Given the description of an element on the screen output the (x, y) to click on. 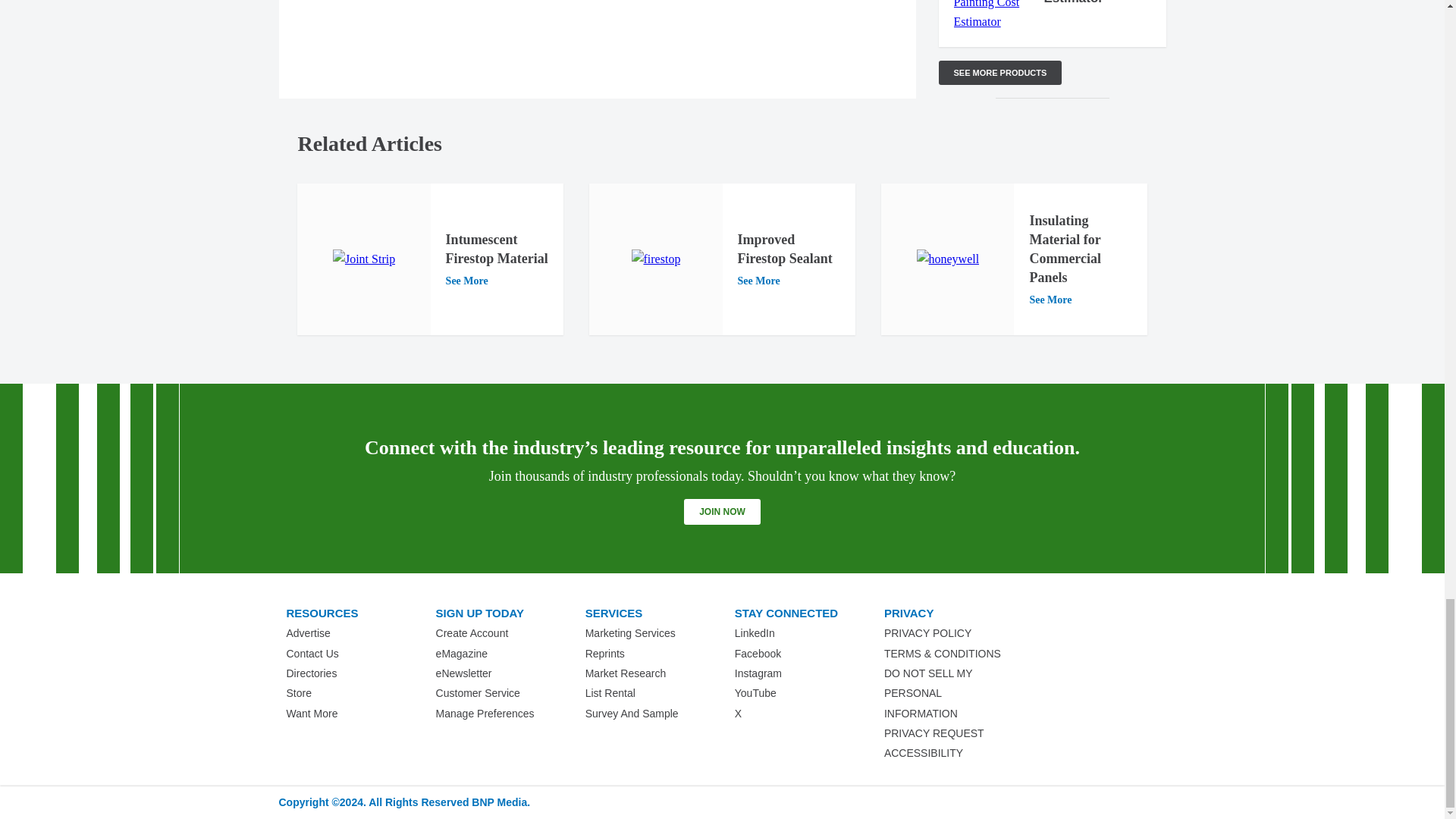
honeywell (946, 259)
Joint Strip (363, 259)
